Given the description of an element on the screen output the (x, y) to click on. 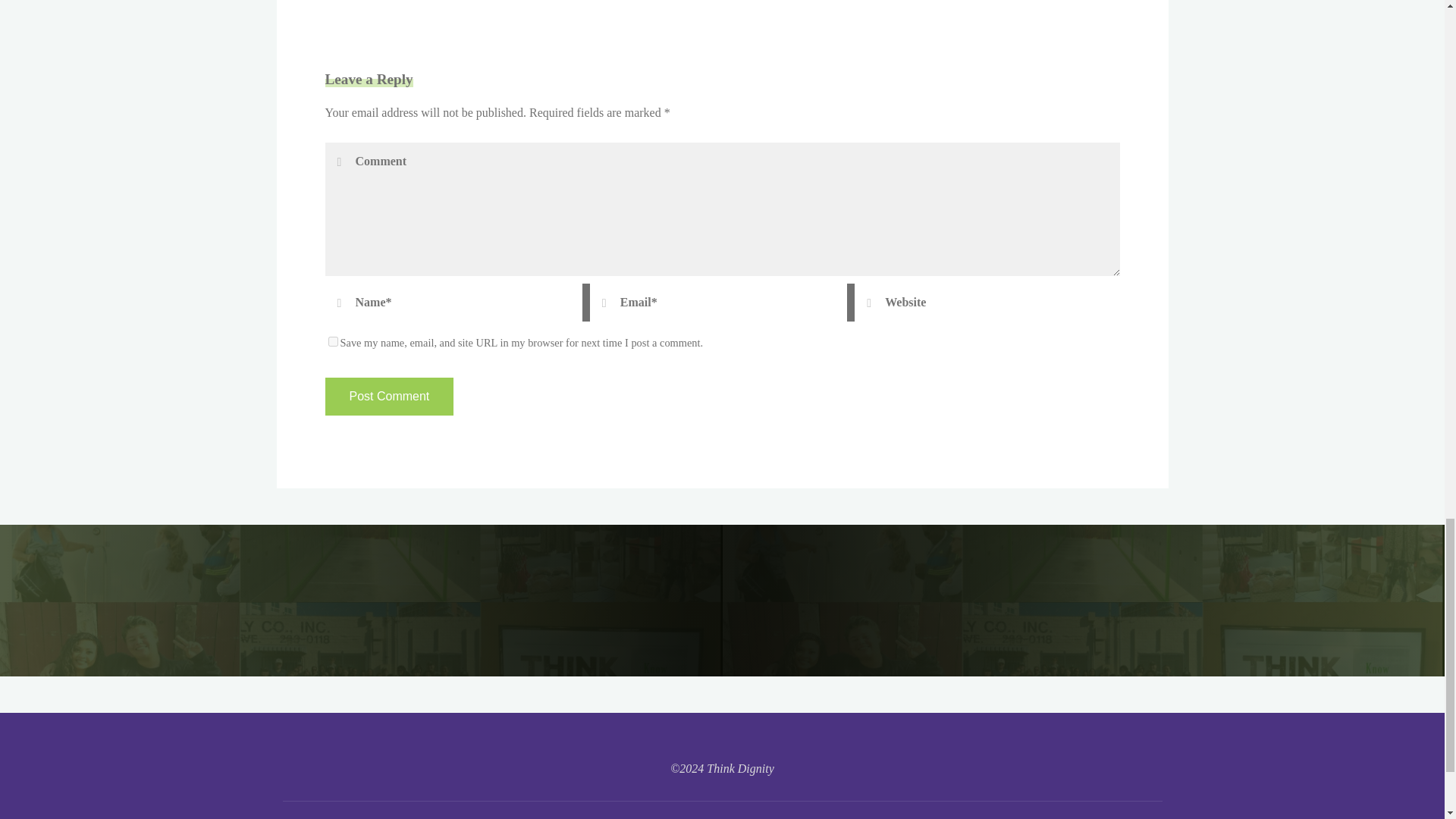
Post Comment (388, 396)
yes (332, 341)
